Given the description of an element on the screen output the (x, y) to click on. 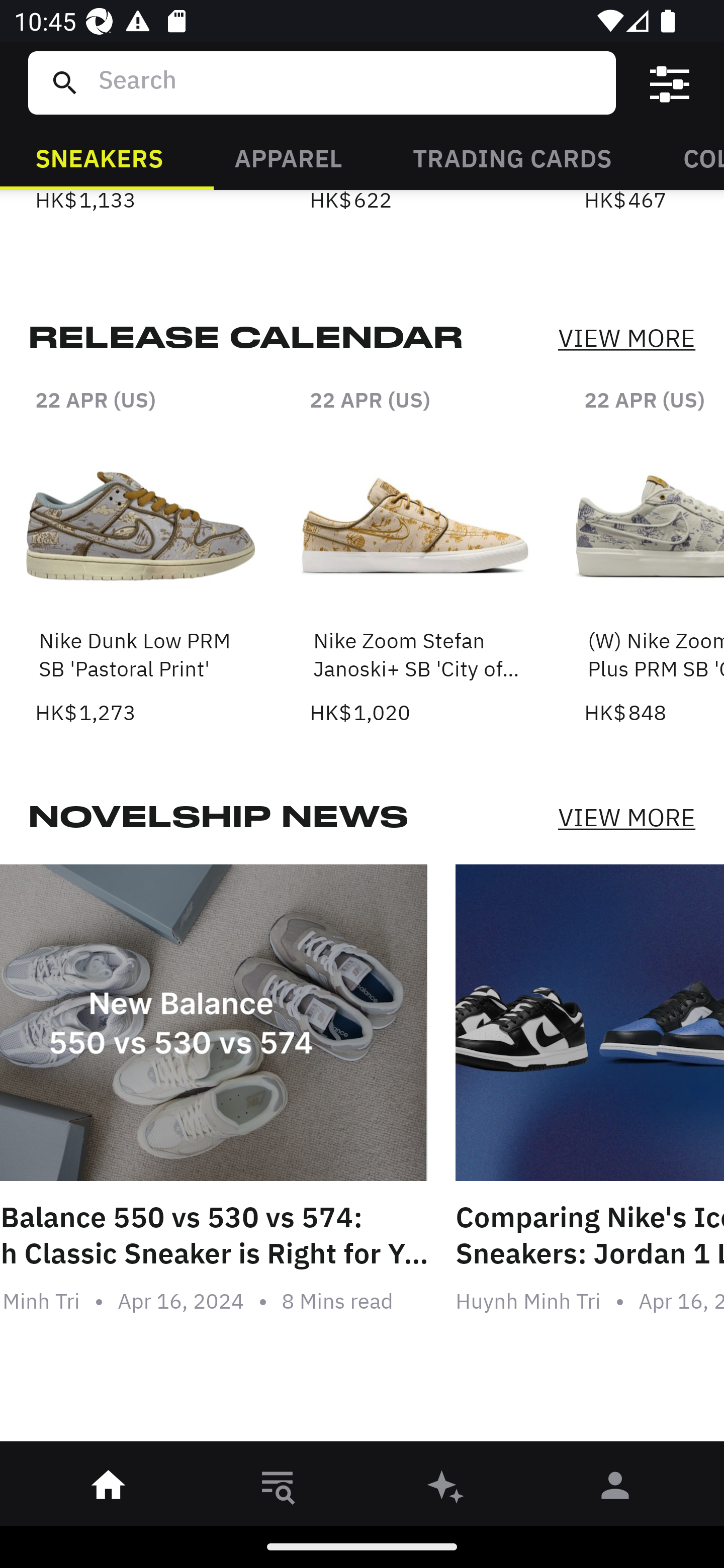
Search (349, 82)
 (669, 82)
SNEAKERS (99, 156)
APPAREL (287, 156)
TRADING CARDS (512, 156)
VIEW MORE (626, 338)
VIEW MORE (626, 816)
󰋜 (108, 1488)
󱎸 (277, 1488)
󰫢 (446, 1488)
󰀄 (615, 1488)
